Given the description of an element on the screen output the (x, y) to click on. 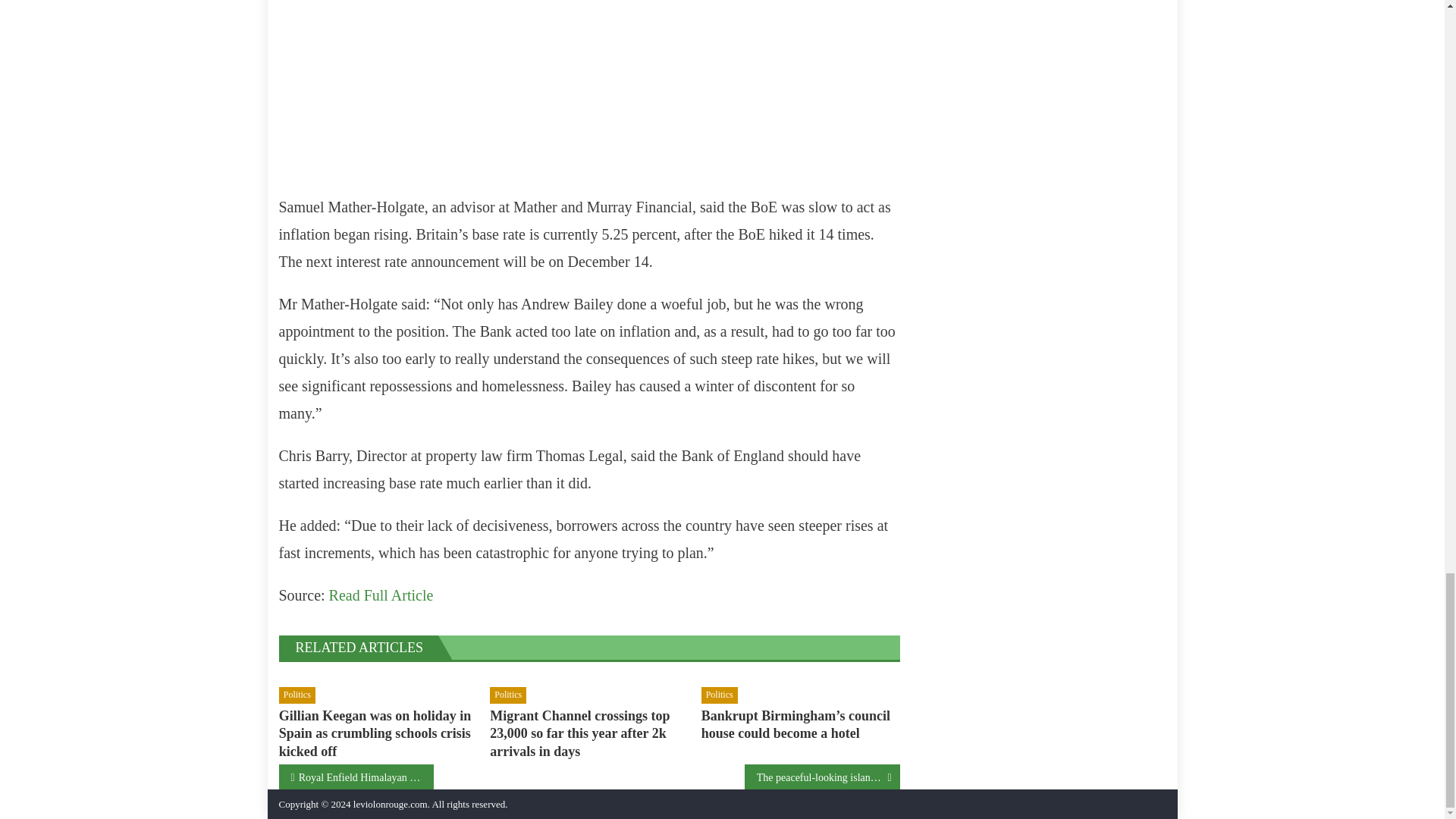
leviolonrouge.com (390, 803)
Politics (719, 695)
Politics (507, 695)
Read Full Article (381, 595)
Politics (297, 695)
